Given the description of an element on the screen output the (x, y) to click on. 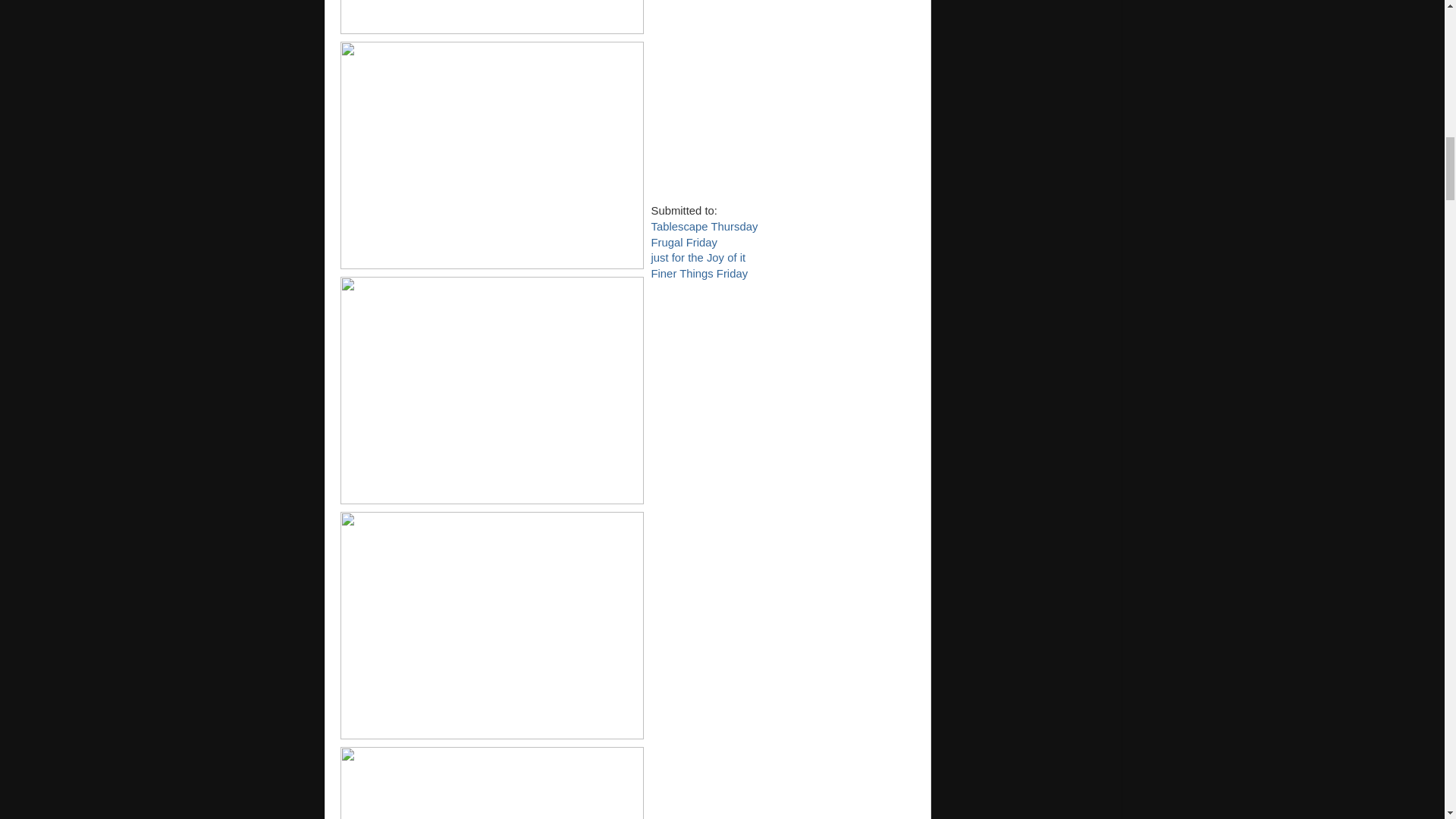
Tablescape Thursday (703, 226)
just for the Joy of it (697, 257)
Frugal Friday (683, 242)
Finer Things Friday (699, 273)
